Given the description of an element on the screen output the (x, y) to click on. 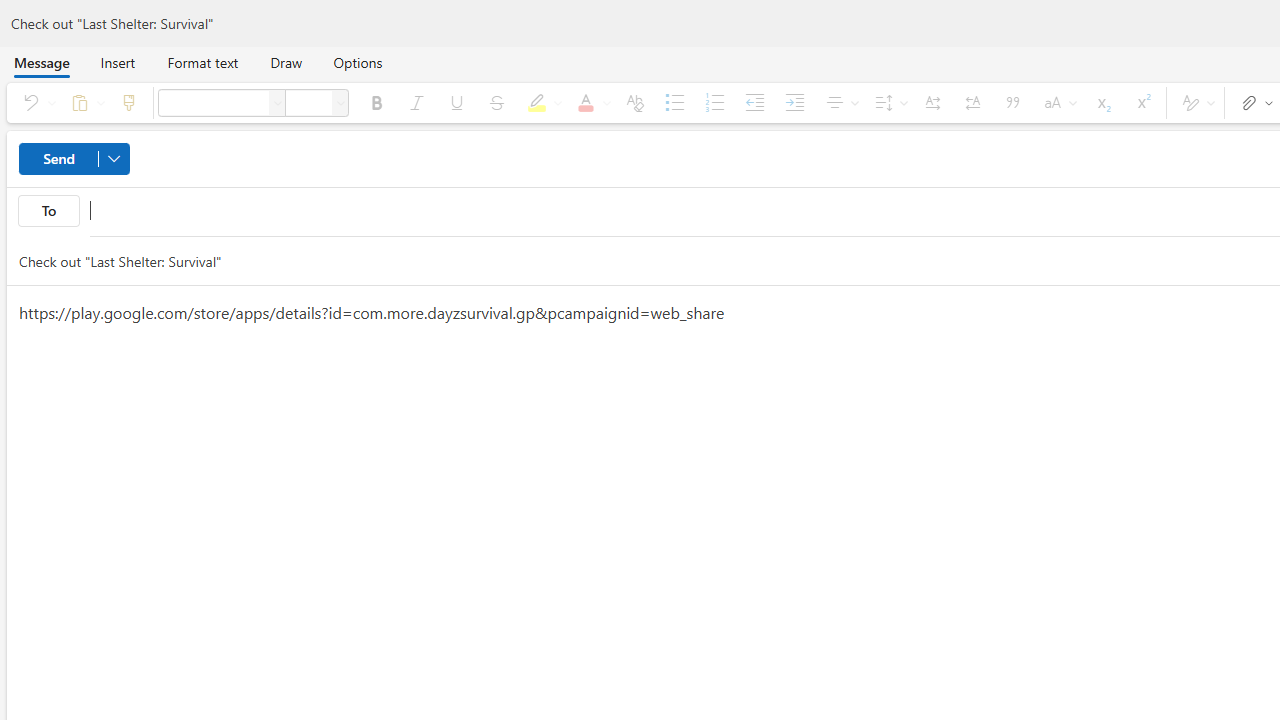
Font size (340, 102)
Italic (416, 102)
Subscript (1101, 102)
Spacing (888, 102)
Superscript (1142, 102)
Increase indent (794, 102)
Right-to-left (973, 102)
